Given the description of an element on the screen output the (x, y) to click on. 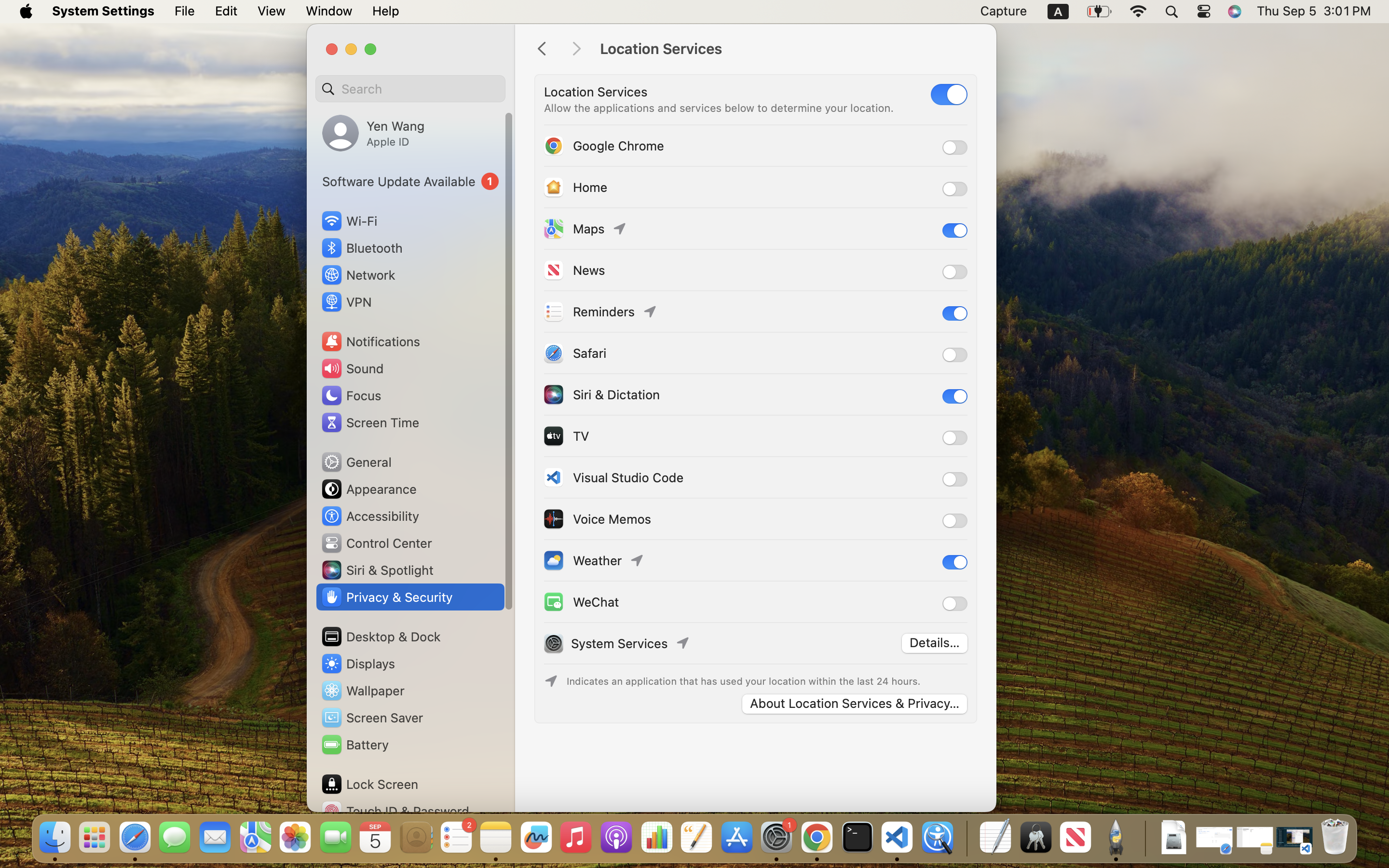
Home Element type: AXStaticText (574, 186)
Safari Element type: AXStaticText (574, 352)
Appearance Element type: AXStaticText (368, 488)
Screen Time Element type: AXStaticText (369, 422)
